Given the description of an element on the screen output the (x, y) to click on. 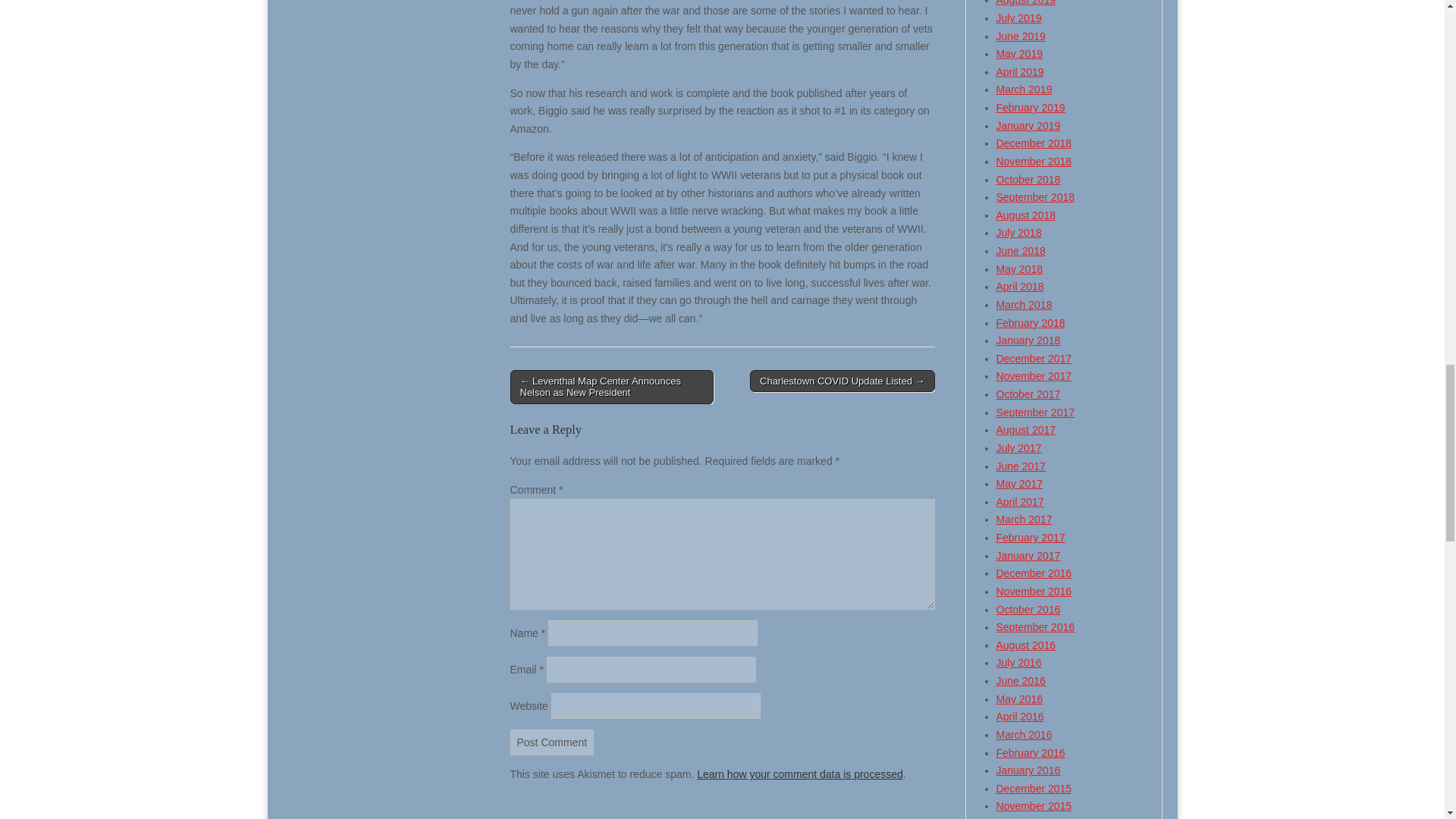
Post Comment (551, 742)
Post Comment (551, 742)
Learn how your comment data is processed (799, 774)
